Given the description of an element on the screen output the (x, y) to click on. 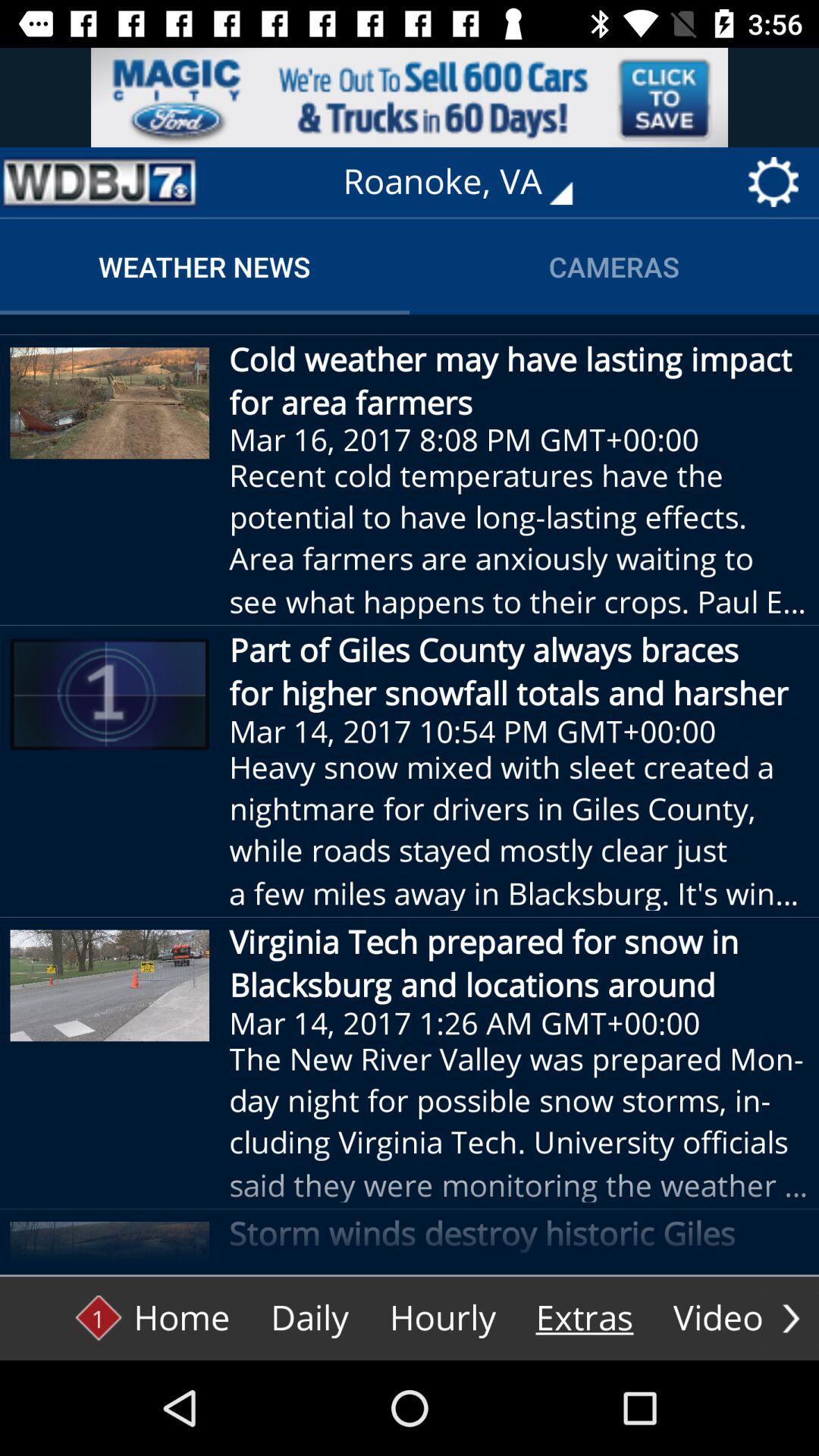
new advertisement open box (409, 97)
